Given the description of an element on the screen output the (x, y) to click on. 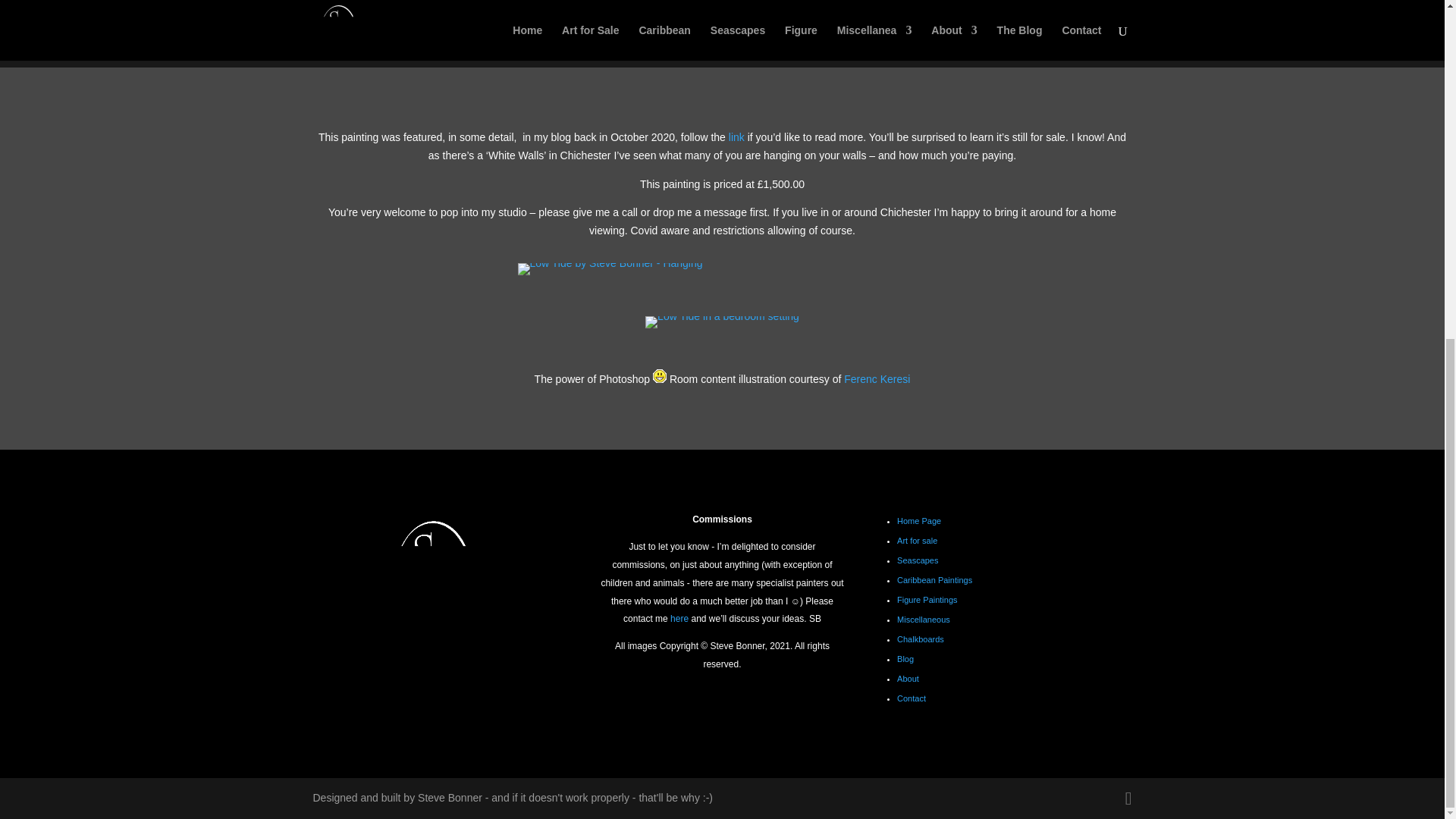
Low Tide by Steve Bonner - Hanging (608, 263)
Low Tide in a bedroom setting (722, 316)
Caribbean Paintings (934, 579)
Blog (905, 658)
Chalkboards (919, 638)
Low Tide - Room Setting (722, 322)
About (907, 678)
Figure Paintings (927, 599)
Ferenc Keresi (877, 378)
here (678, 618)
